Given the description of an element on the screen output the (x, y) to click on. 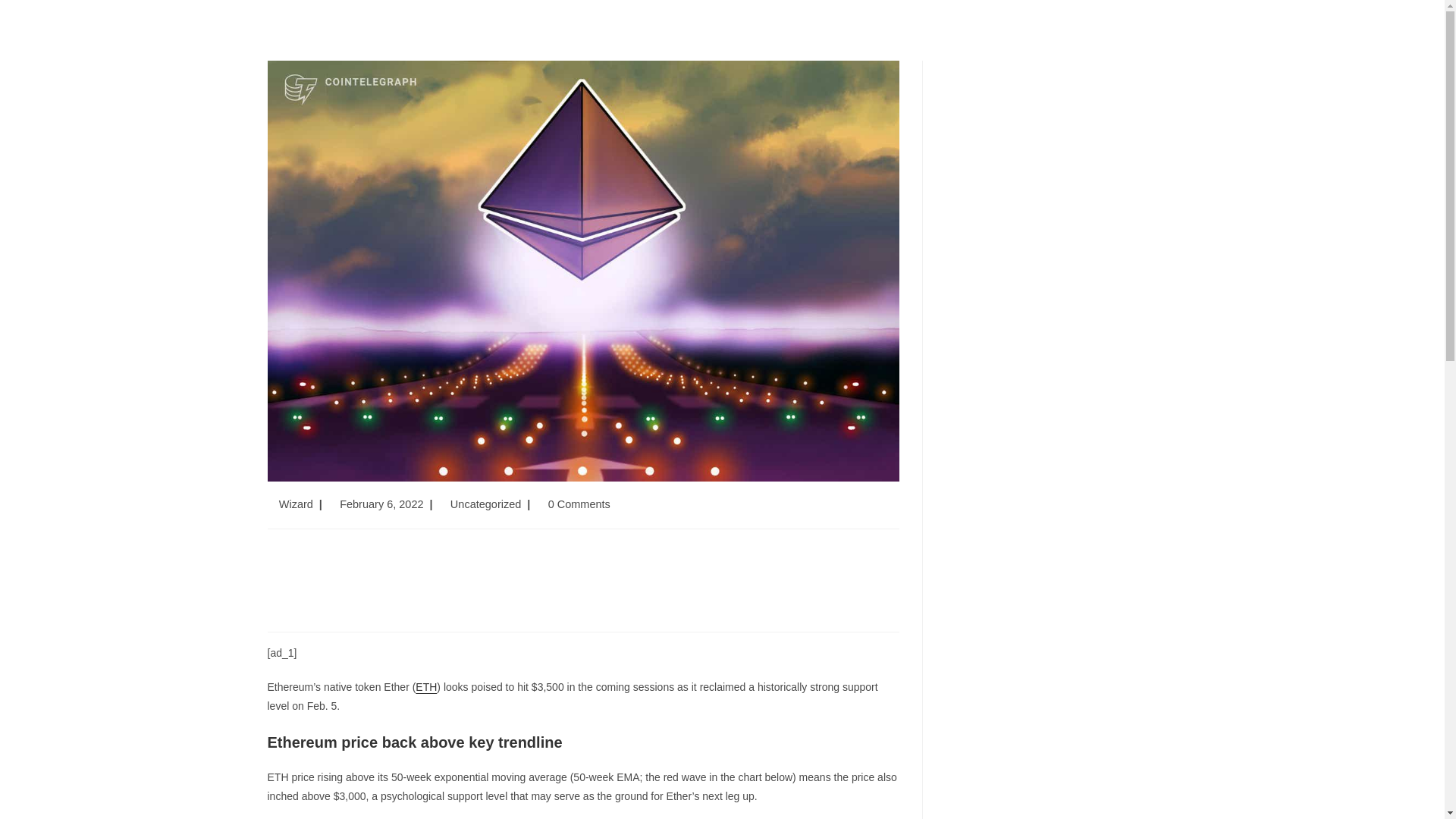
Wizard (296, 503)
Posts by Wizard (296, 503)
0 Comments (579, 503)
Uncategorized (485, 503)
ETH (425, 686)
